Given the description of an element on the screen output the (x, y) to click on. 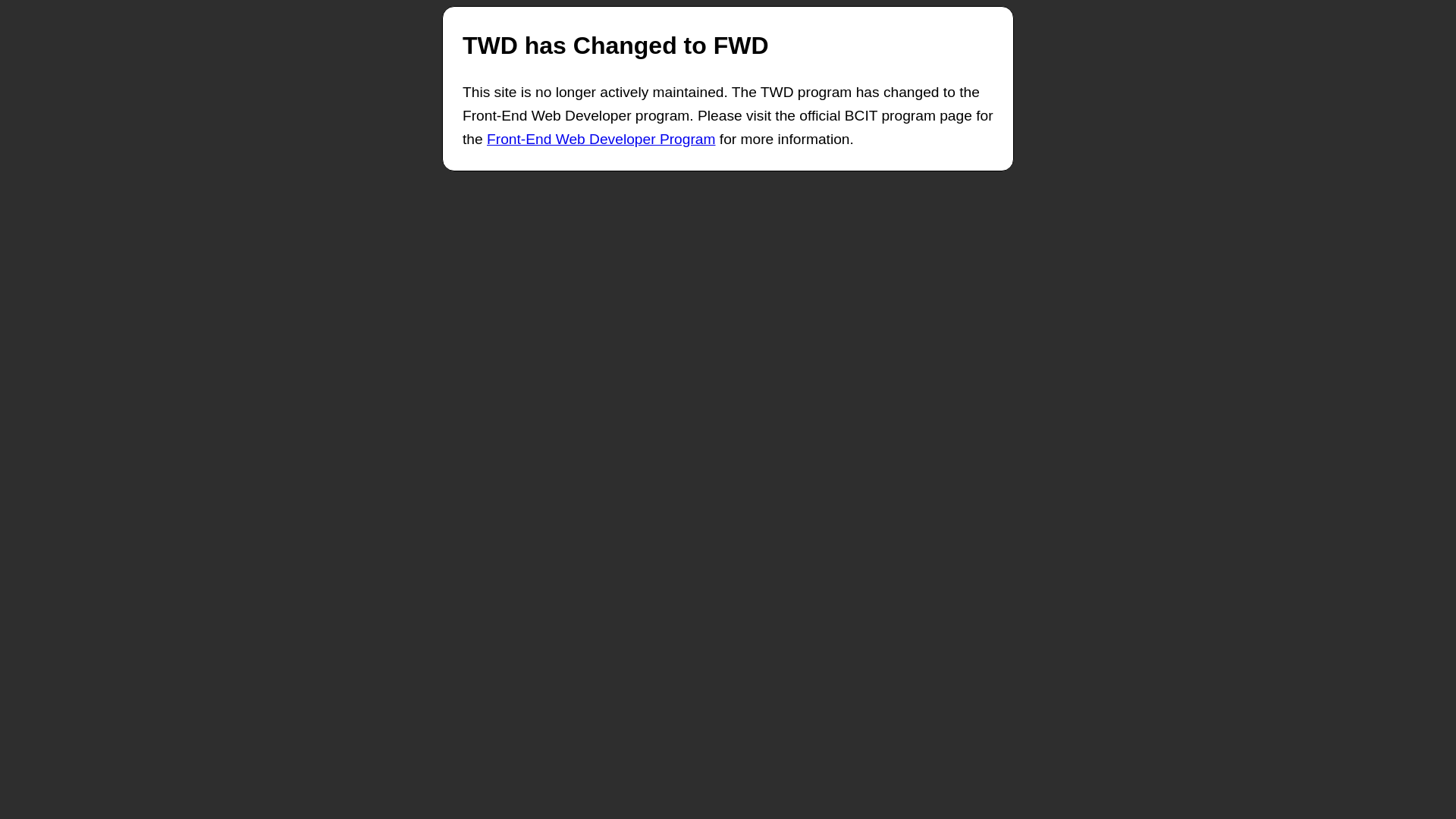
Front-End Web Developer Program Element type: text (600, 139)
